Given the description of an element on the screen output the (x, y) to click on. 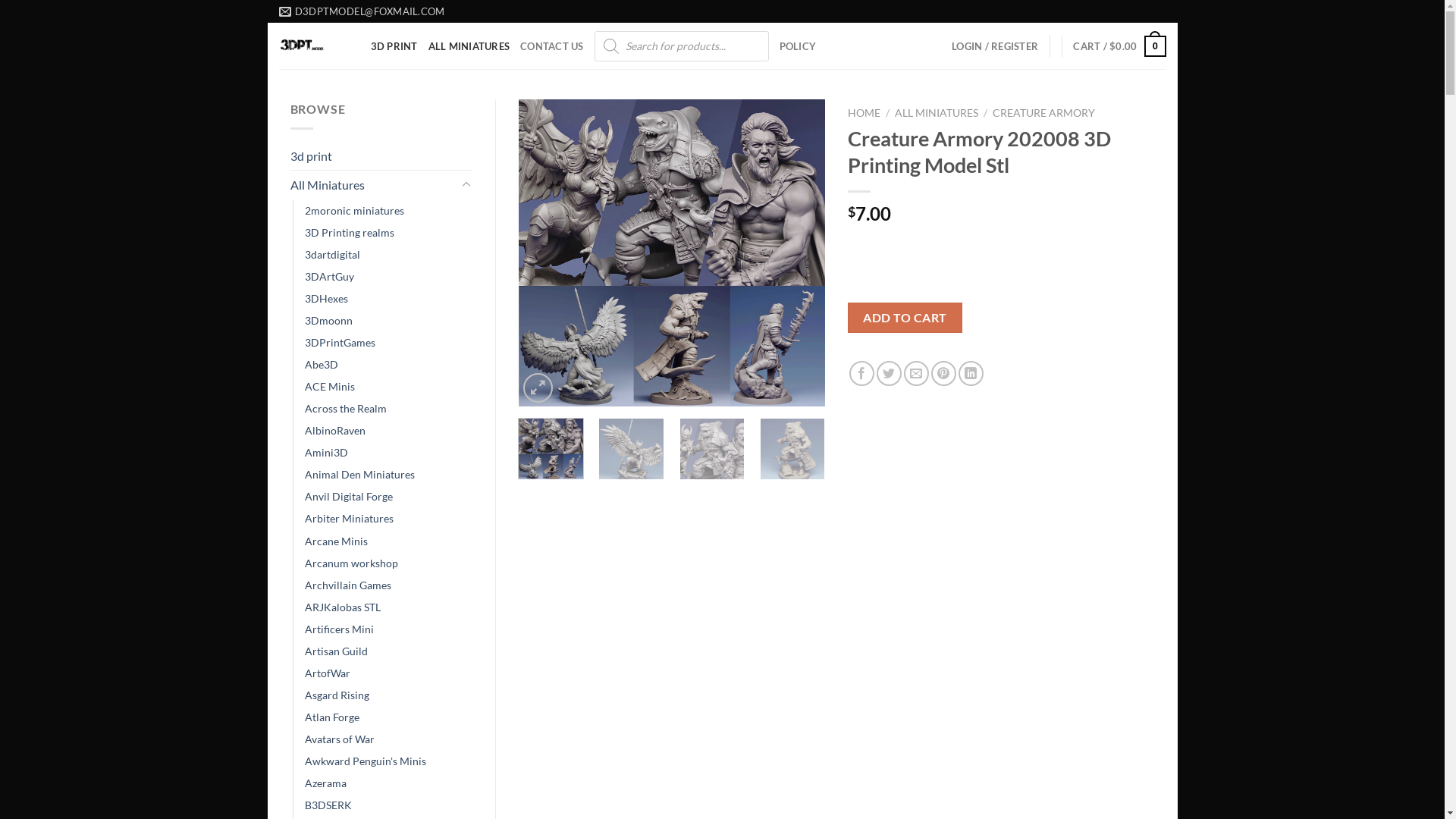
All Miniatures Element type: text (372, 184)
3D PRINT Element type: text (393, 45)
Atlan Forge Element type: text (331, 717)
CART / $0.00
0 Element type: text (1119, 46)
3DPrintGames Element type: text (339, 342)
Anvil Digital Forge Element type: text (348, 496)
Amini3D Element type: text (326, 452)
Arcane Minis Element type: text (335, 540)
ARJKalobas STL Element type: text (342, 607)
HOME Element type: text (863, 112)
3D Printing realms Element type: text (349, 232)
ALL MINIATURES Element type: text (936, 112)
Avatars of War Element type: text (339, 738)
Azerama Element type: text (325, 782)
3Dmoonn Element type: text (328, 320)
Across the Realm Element type: text (345, 408)
ALL MINIATURES Element type: text (469, 45)
AlbinoRaven Element type: text (334, 430)
CREATURE ARMORY Element type: text (1043, 112)
LOGIN / REGISTER Element type: text (994, 45)
2moronic miniatures Element type: text (354, 210)
ACE Minis Element type: text (329, 386)
D3DPTMODEL@FOXMAIL.COM Element type: text (362, 11)
Asgard Rising Element type: text (336, 695)
Artificers Mini Element type: text (338, 629)
000 Element type: hover (671, 252)
3d printing models Element type: hover (313, 45)
3dartdigital Element type: text (332, 254)
POLICY Element type: text (797, 45)
Awkward Penguin's Minis Element type: text (365, 760)
Animal Den Miniatures Element type: text (359, 474)
Artisan Guild Element type: text (335, 651)
ADD TO CART Element type: text (904, 317)
Arcanum workshop Element type: text (351, 563)
Abe3D Element type: text (321, 364)
B3DSERK Element type: text (327, 804)
CONTACT US Element type: text (551, 45)
Arbiter Miniatures Element type: text (348, 518)
3DHexes Element type: text (326, 298)
Archvillain Games Element type: text (347, 585)
3DArtGuy Element type: text (329, 276)
3d print Element type: text (380, 155)
ArtofWar Element type: text (327, 673)
